Given the description of an element on the screen output the (x, y) to click on. 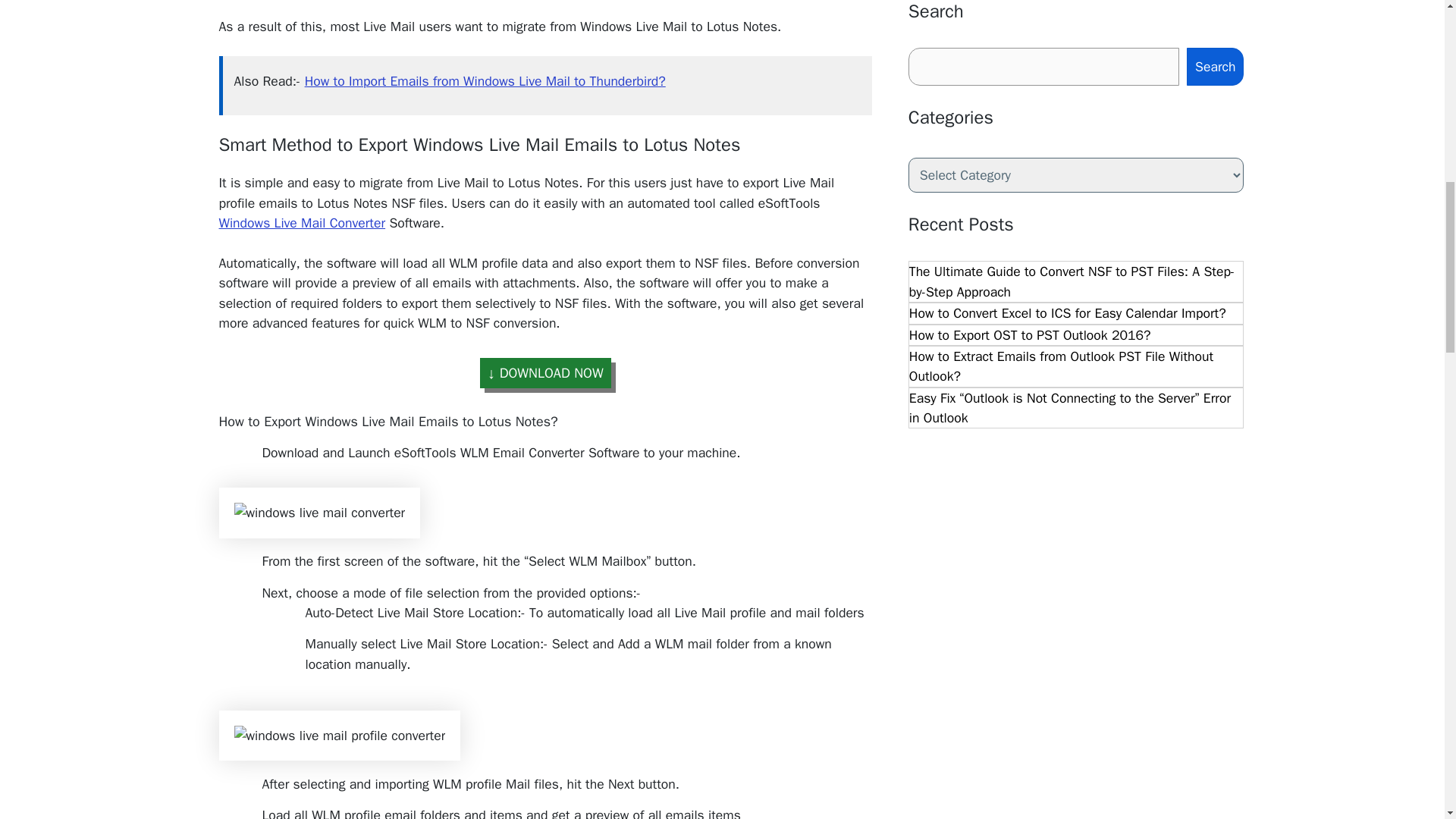
DOWNLOAD NOW (545, 372)
How to Import Emails from Windows Live Mail to Thunderbird? (484, 80)
Windows Live Mail Converter (301, 222)
